Given the description of an element on the screen output the (x, y) to click on. 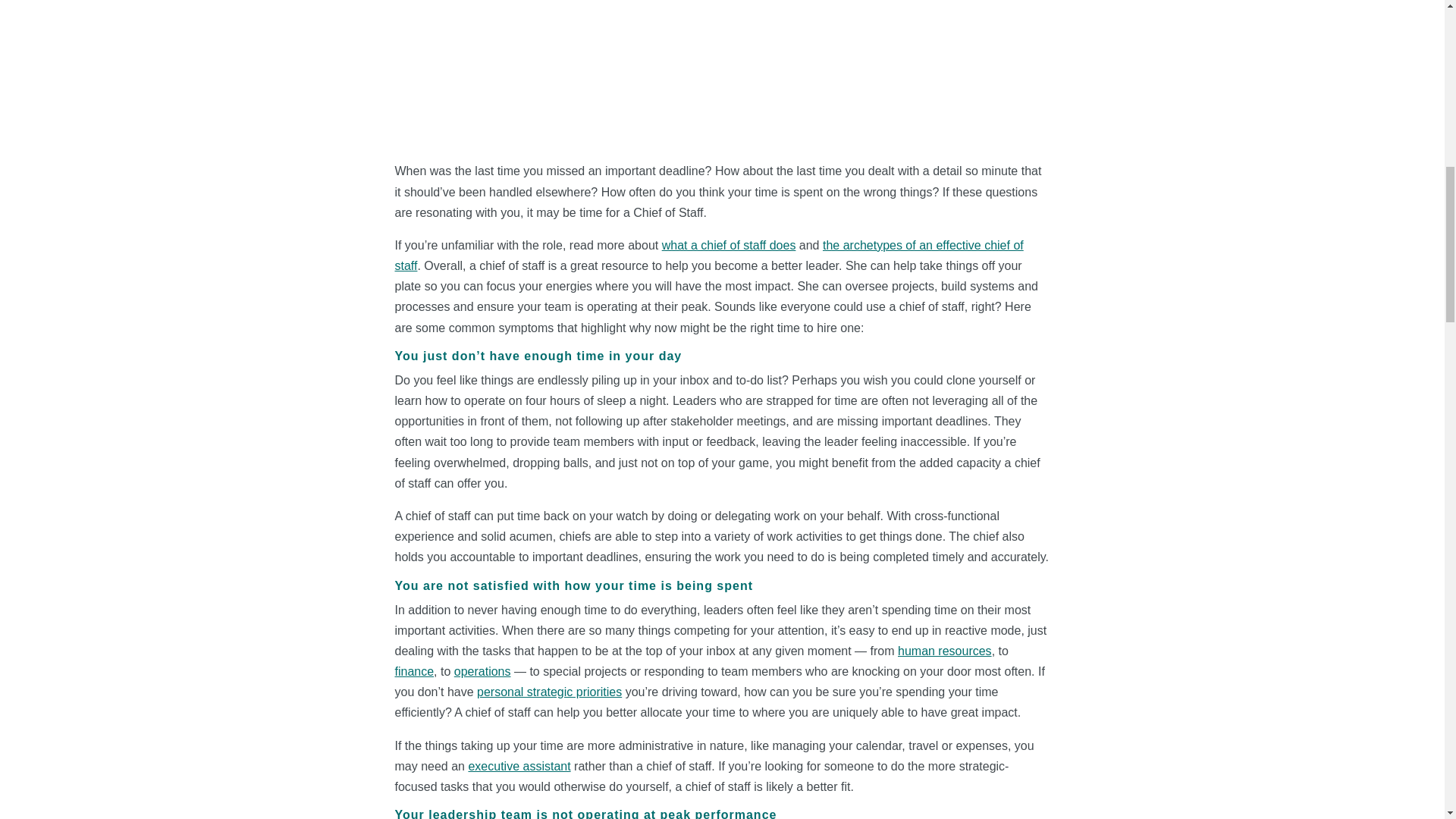
executive assistant (518, 766)
operations (482, 671)
what a chief of staff does (729, 245)
human resources (944, 650)
personal strategic priorities (549, 691)
the archetypes of an effective chief of staff (708, 255)
finance (413, 671)
